Given the description of an element on the screen output the (x, y) to click on. 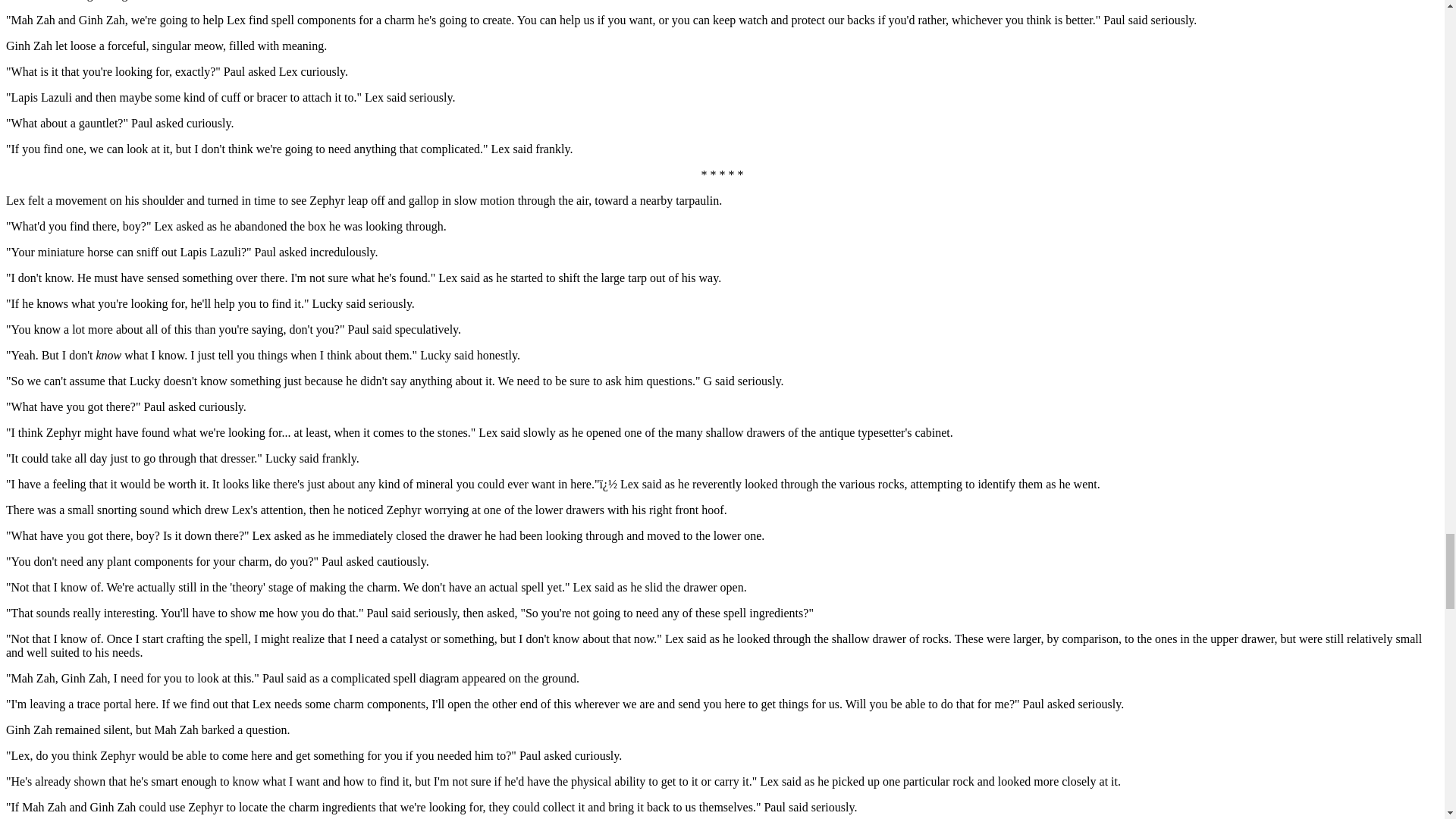
" (596, 483)
